Given the description of an element on the screen output the (x, y) to click on. 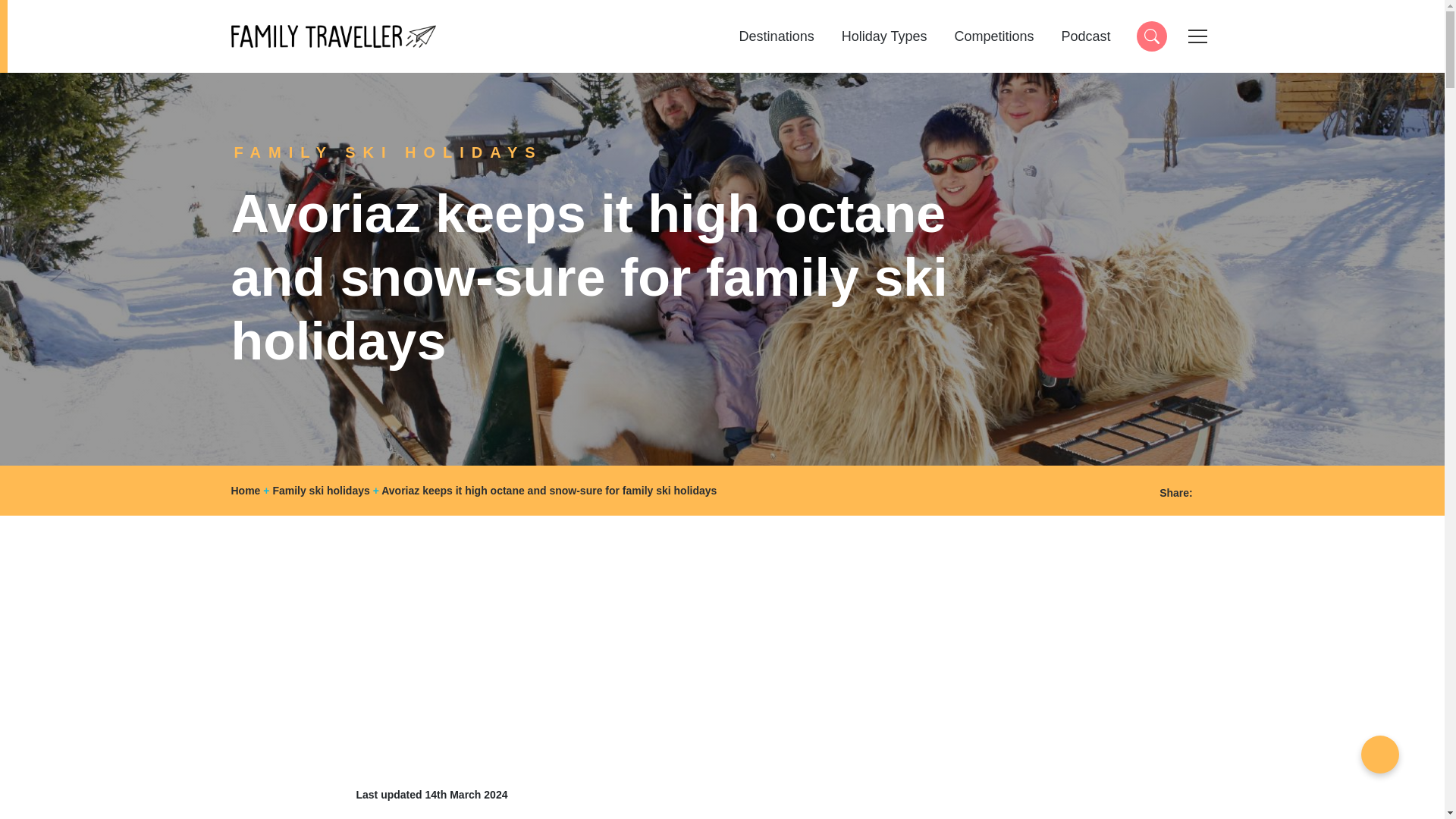
Holiday Types (884, 36)
Podcast (1085, 36)
Search anything... (1150, 36)
Destinations (777, 36)
Competitions (332, 36)
